Given the description of an element on the screen output the (x, y) to click on. 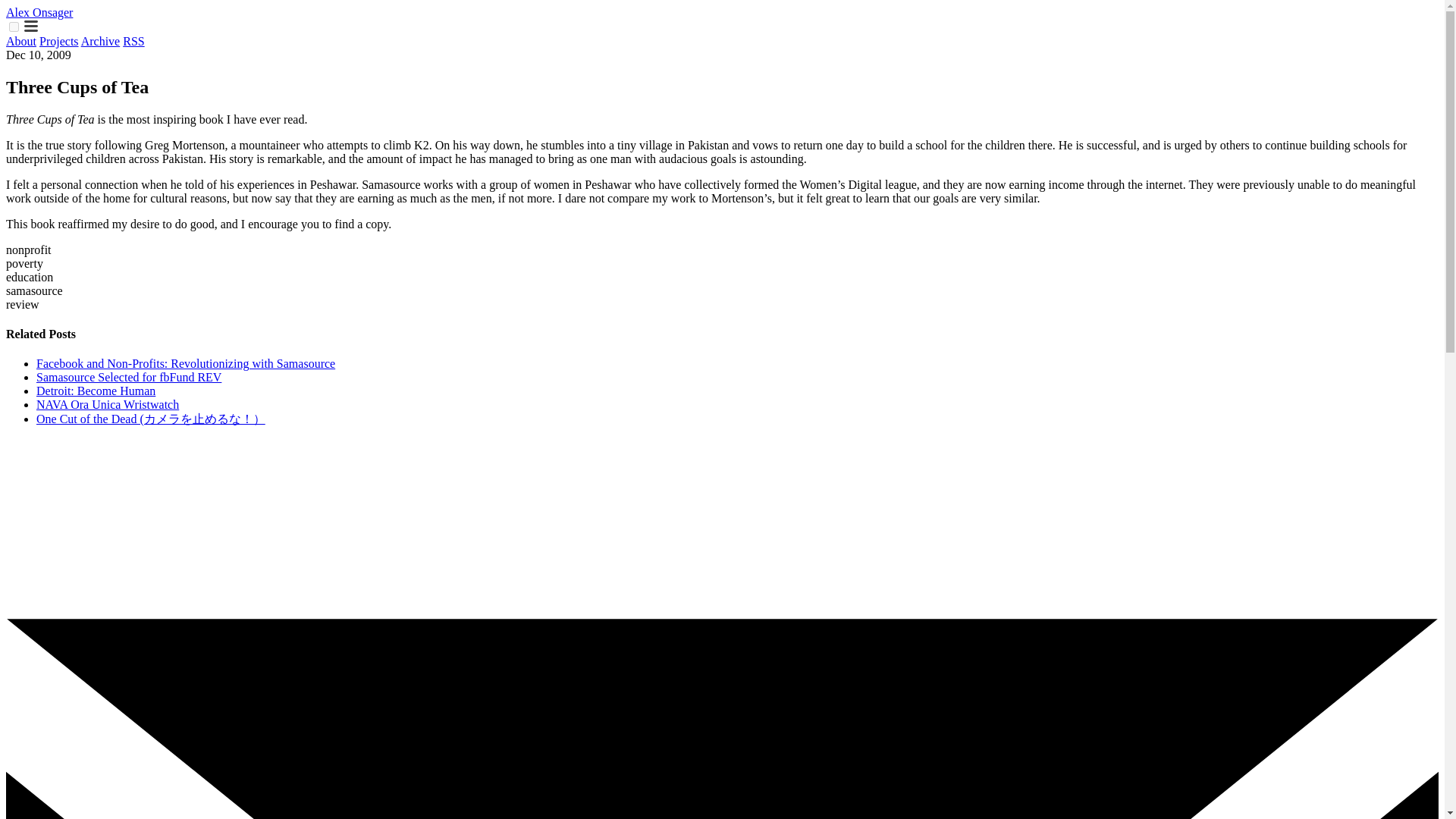
Archive (100, 41)
NAVA Ora Unica Wristwatch (107, 404)
on (13, 26)
About (20, 41)
Facebook and Non-Profits: Revolutionizing with Samasource (185, 363)
Samasource Selected for fbFund REV (128, 377)
RSS (133, 41)
Projects (58, 41)
Detroit: Become Human (95, 390)
Alex Onsager (38, 11)
